Given the description of an element on the screen output the (x, y) to click on. 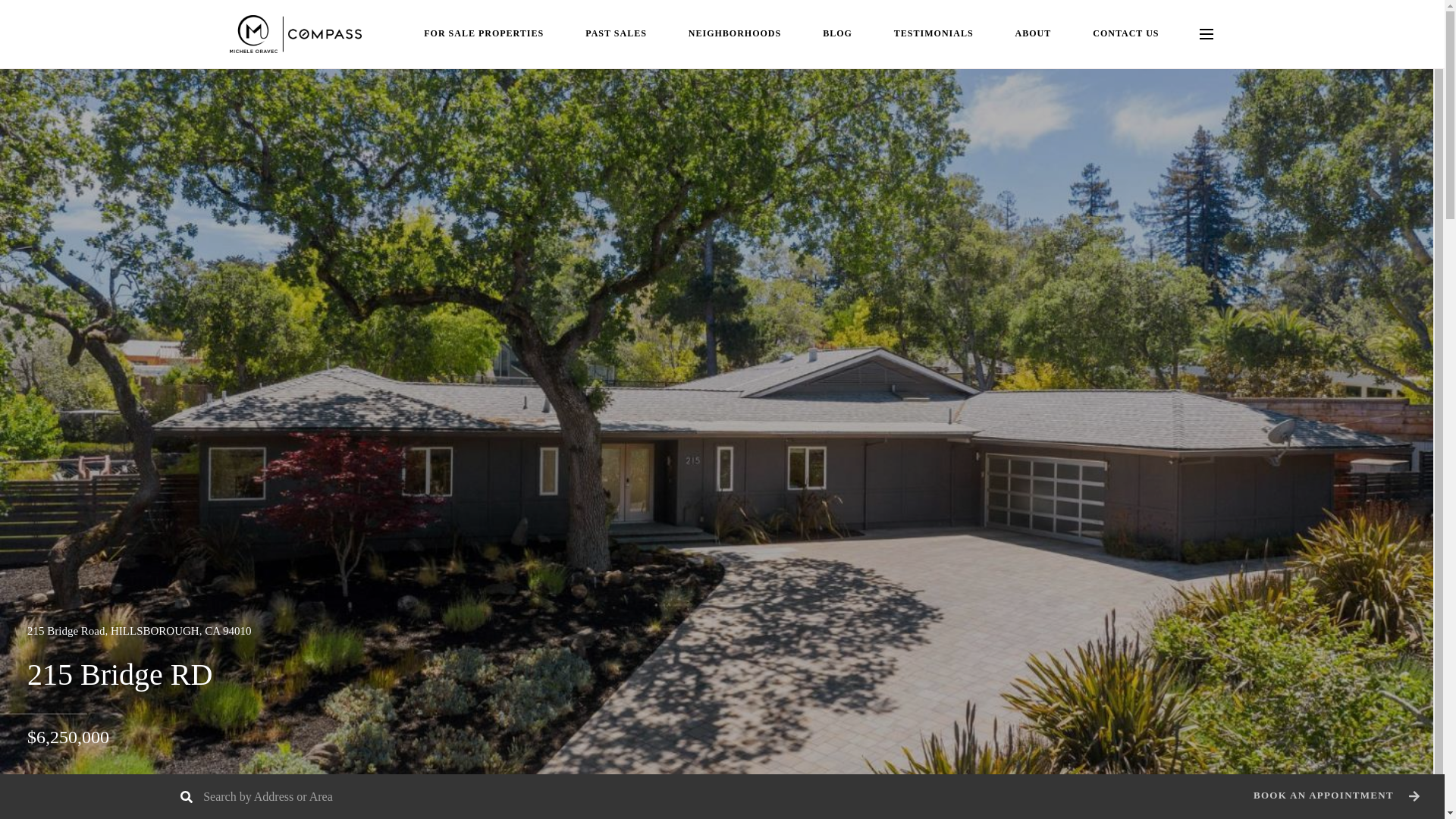
ABOUT (1032, 33)
BLOG (836, 33)
TESTIMONIALS (933, 33)
CONTACT US (1125, 33)
FOR SALE PROPERTIES (483, 33)
PAST SALES (615, 33)
NEIGHBORHOODS (734, 33)
